Given the description of an element on the screen output the (x, y) to click on. 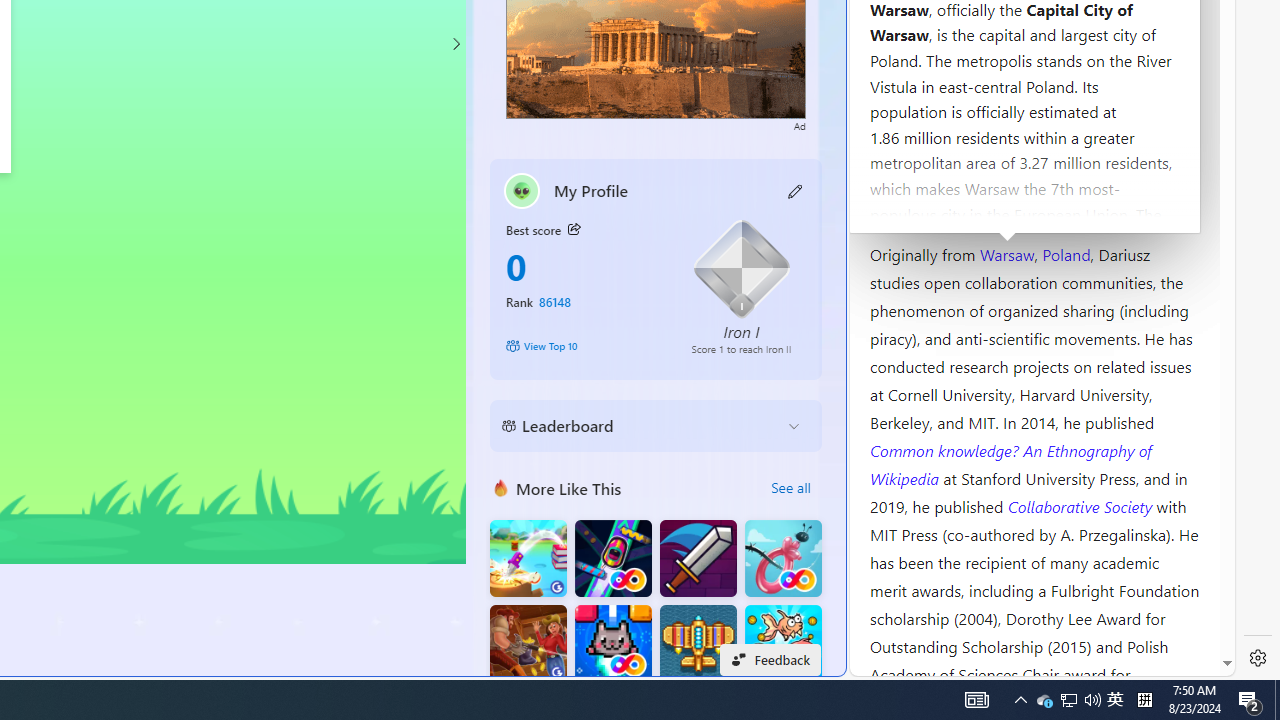
Harvard University (934, 205)
Fish Merge FRVR (783, 643)
Balloon FRVR (783, 558)
Actions for this site (1129, 306)
Class: control (455, 43)
Warsaw (1006, 253)
Collaborative Society  (1082, 505)
Leaderboard (639, 425)
Poland (1065, 253)
